Given the description of an element on the screen output the (x, y) to click on. 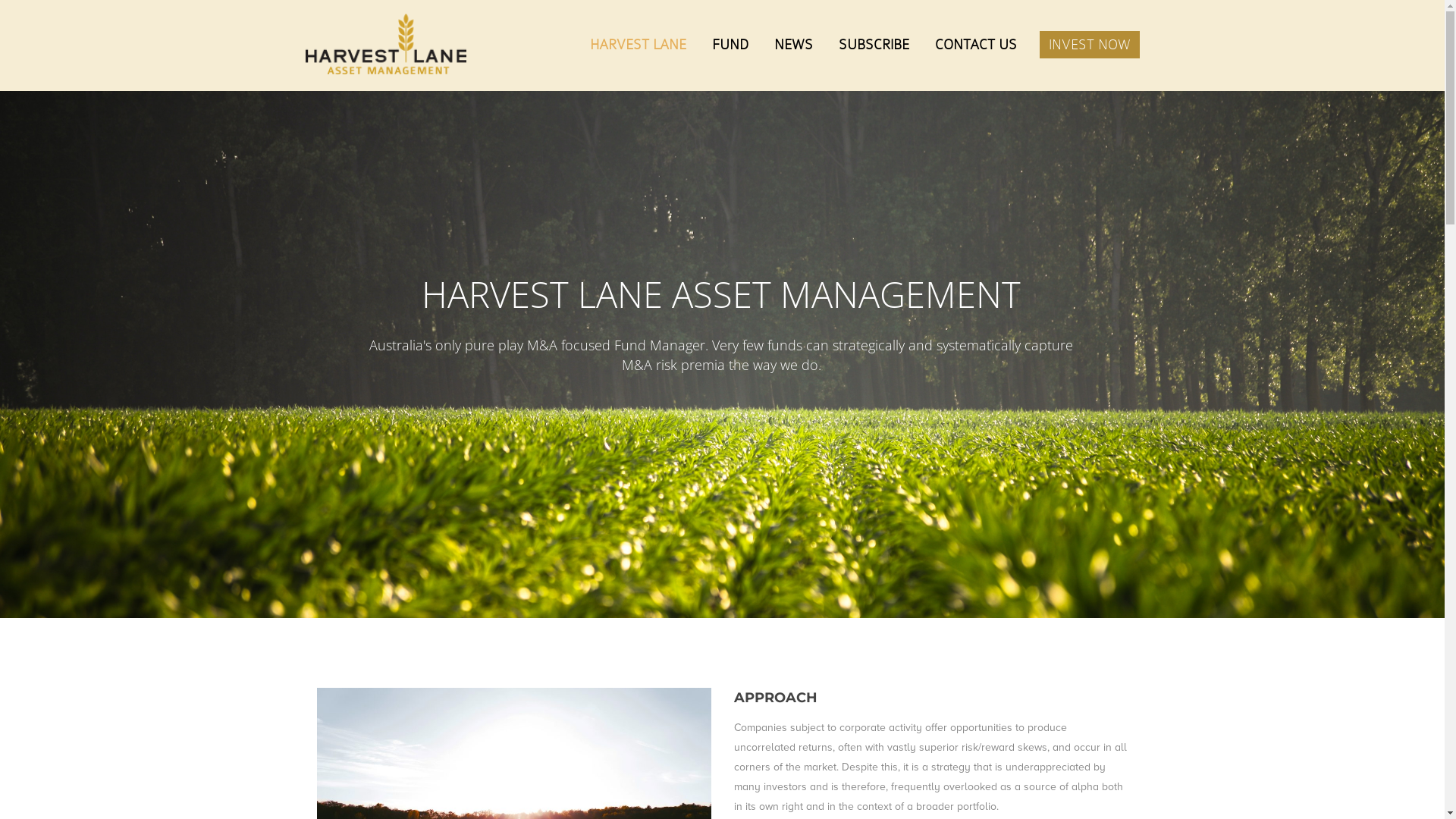
SUBSCRIBE Element type: text (873, 44)
NEWS Element type: text (792, 44)
HARVEST LANE Element type: text (637, 44)
FUND Element type: text (729, 44)
CONTACT US Element type: text (975, 44)
